Given the description of an element on the screen output the (x, y) to click on. 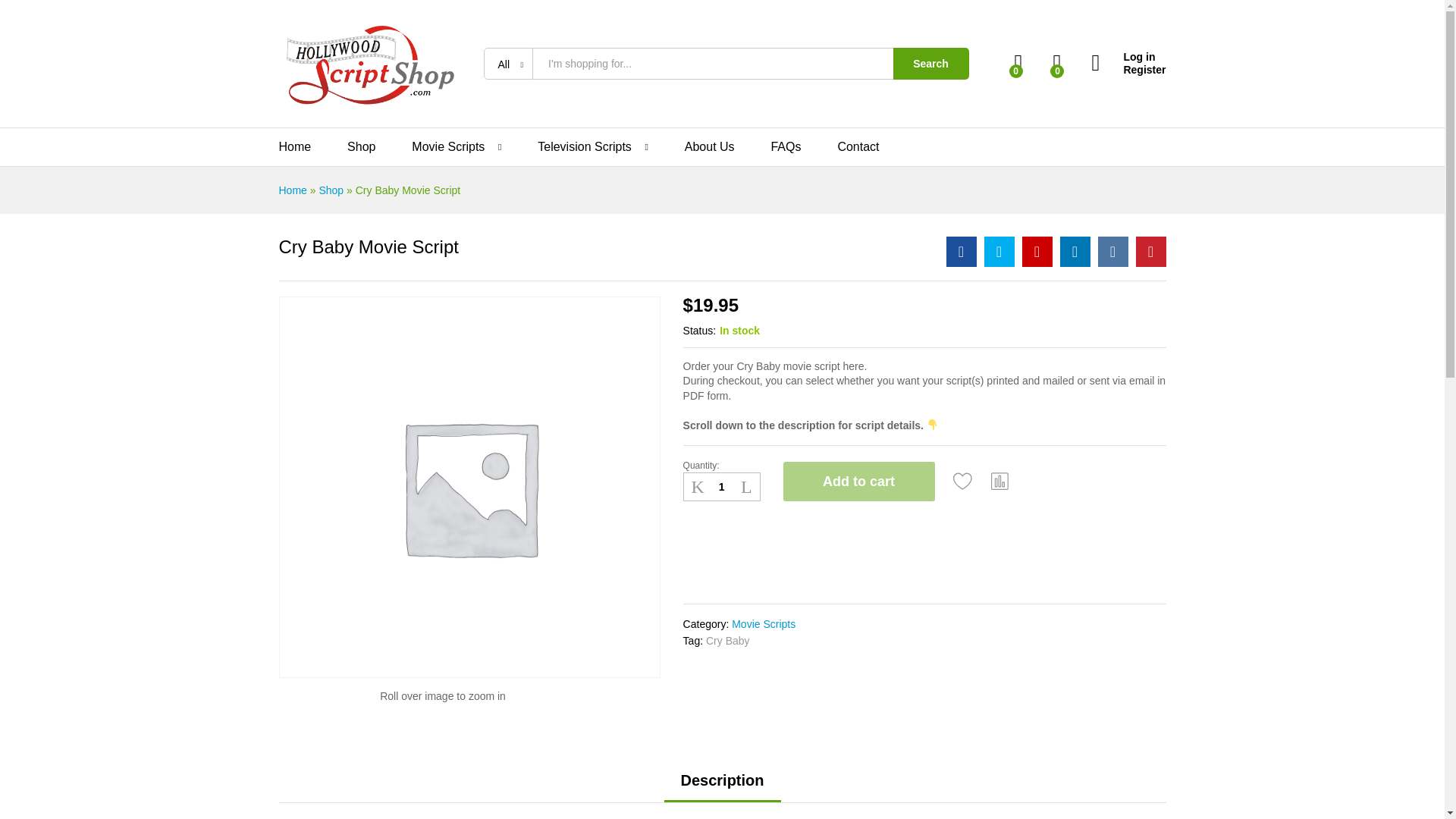
Movie Scripts (763, 623)
Register (1128, 69)
Cry Baby Movie Script (1037, 251)
Shop (330, 190)
Home (293, 190)
Search (931, 63)
Shop (361, 146)
Contact (858, 146)
1 (721, 486)
Home (295, 146)
Cry Baby Movie Script (961, 251)
Wishlist (962, 481)
FAQs (785, 146)
Description (720, 780)
About Us (709, 146)
